Given the description of an element on the screen output the (x, y) to click on. 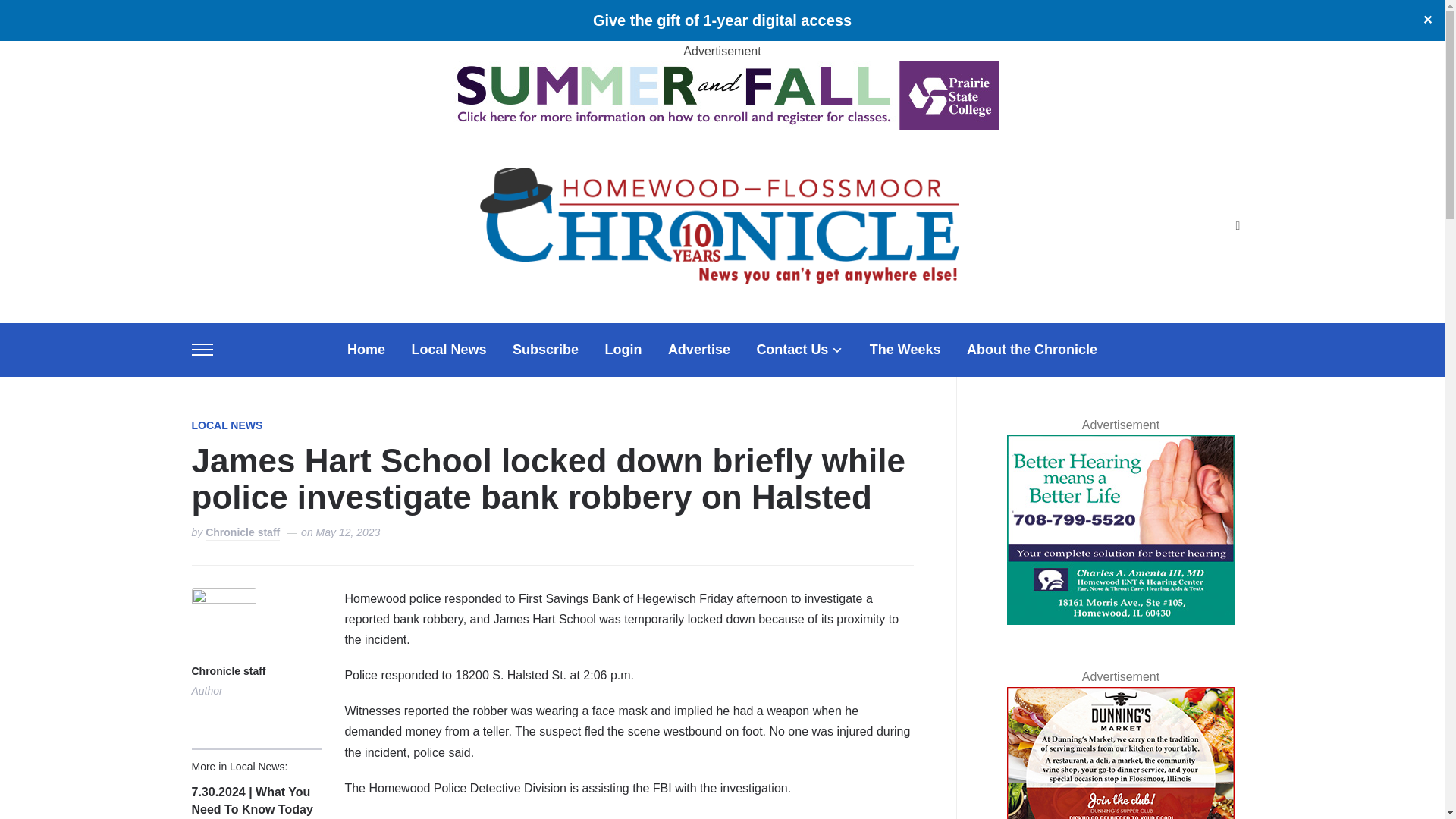
Home (366, 349)
Search (1237, 226)
Posts by Chronicle staff (242, 533)
Give the gift of 1-year digital access (721, 20)
Posts by Chronicle staff (227, 672)
